Given the description of an element on the screen output the (x, y) to click on. 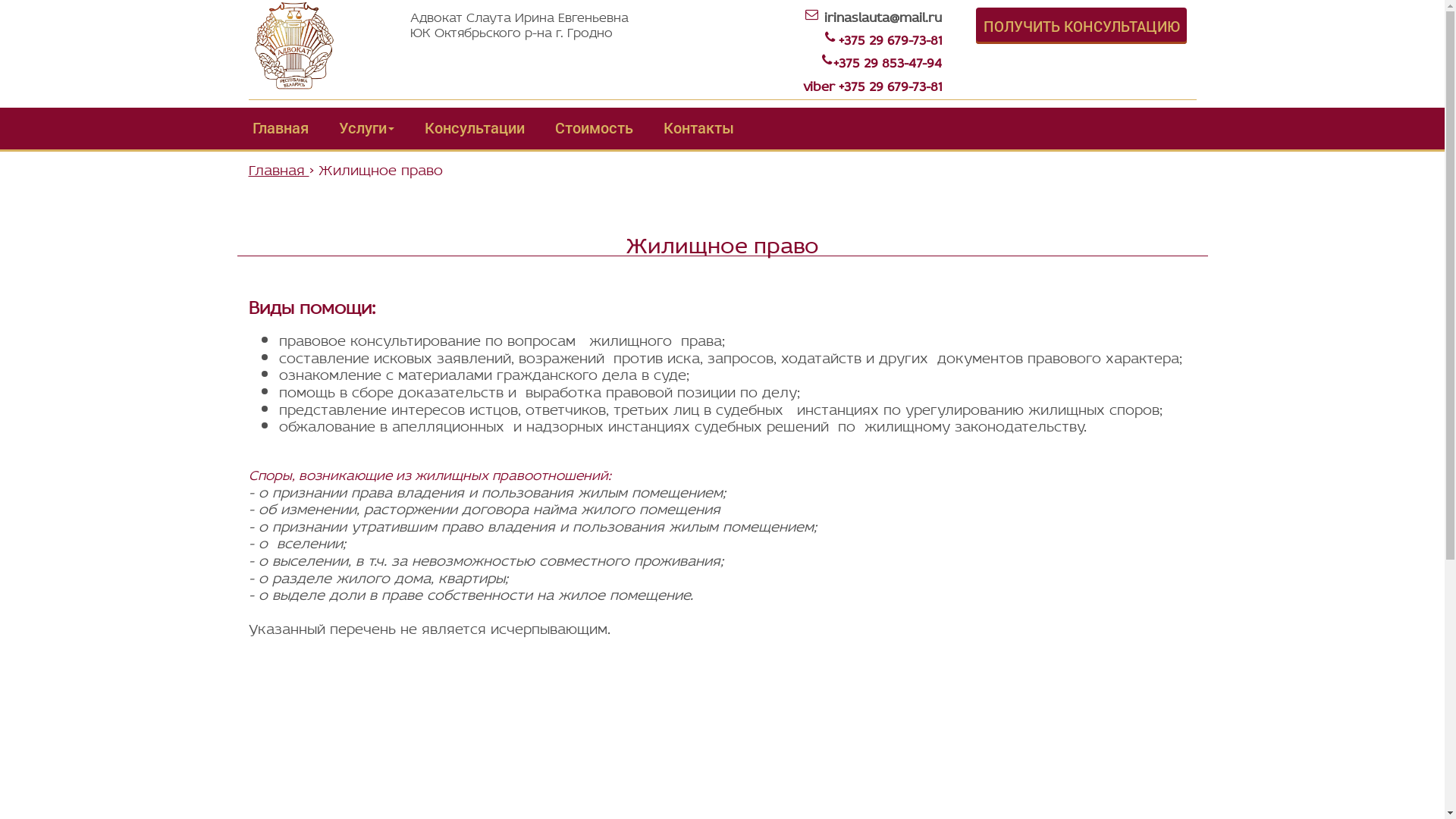
+375 29 853-47-94 Element type: text (887, 60)
+375 29 679-73-81 Element type: text (889, 83)
+375 29 679-73-81 Element type: text (889, 37)
